Given the description of an element on the screen output the (x, y) to click on. 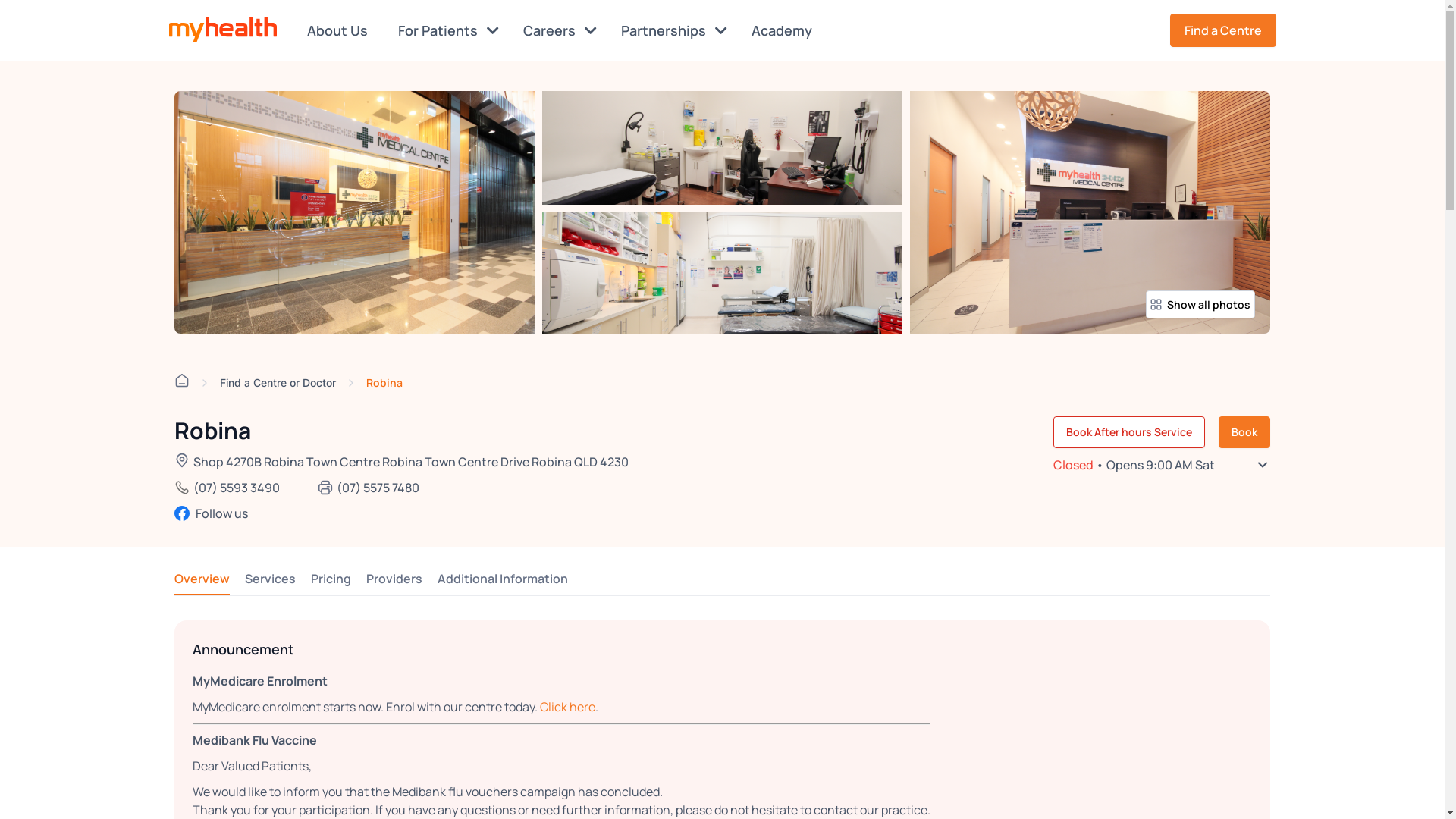
Overview Element type: text (201, 578)
Click here Element type: text (567, 706)
(07) 5593 3490 Element type: text (236, 487)
Show all photos Element type: text (1200, 304)
About Us Element type: text (339, 30)
Academy Element type: text (783, 30)
Book After hours Service Element type: text (1128, 432)
Find a Centre or Doctor Element type: text (277, 381)
For Patients Element type: text (447, 30)
(07) 5575 7480 Element type: text (377, 487)
Providers Element type: text (394, 578)
Find a Centre Element type: text (1222, 30)
Pricing Element type: text (330, 578)
Book Element type: text (1244, 432)
Follow us Element type: text (401, 513)
Partnerships Element type: text (673, 30)
Services Element type: text (269, 578)
Additional Information Element type: text (502, 578)
Careers Element type: text (559, 30)
